Given the description of an element on the screen output the (x, y) to click on. 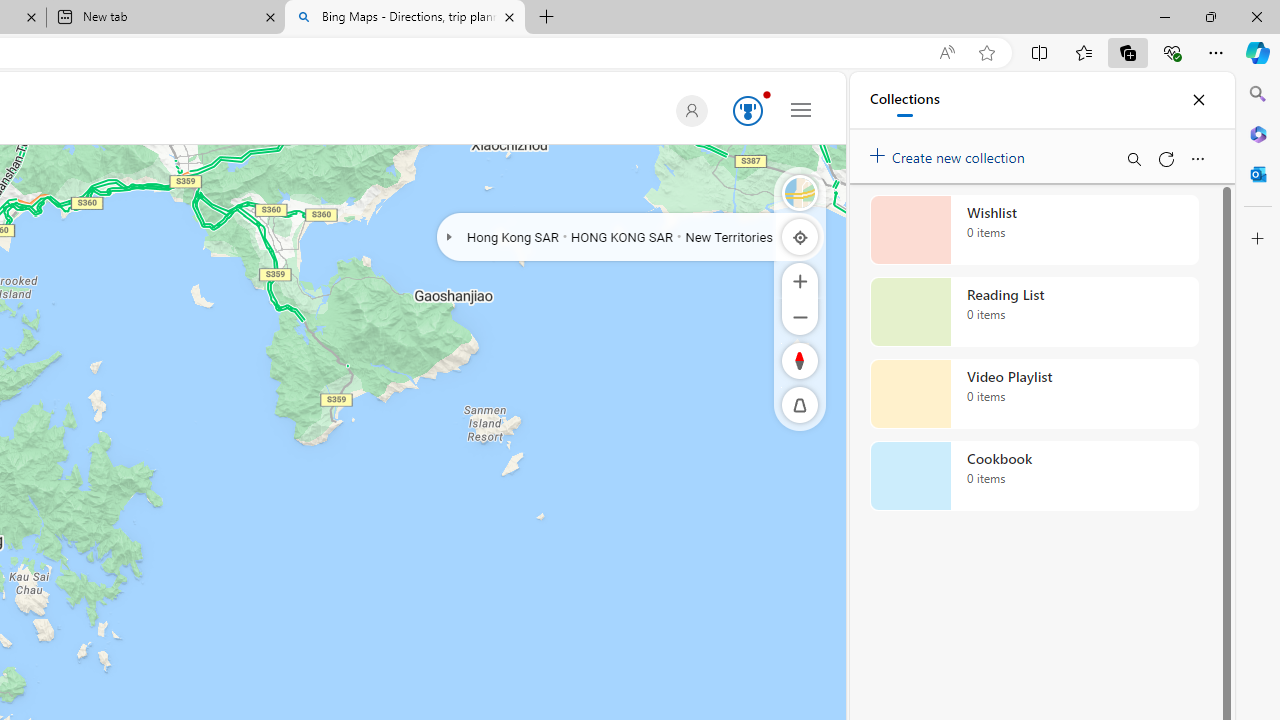
Wishlist collection, 0 items (1034, 229)
Reset to Default Pitch (799, 405)
Bird's eye (799, 192)
More options menu (1197, 158)
Rotate Right (780, 360)
Reset to Default Rotation (799, 360)
AutomationID: rh_meter (748, 110)
Microsoft Rewards 63 (744, 111)
Zoom Out (799, 316)
Satellite (799, 192)
